Given the description of an element on the screen output the (x, y) to click on. 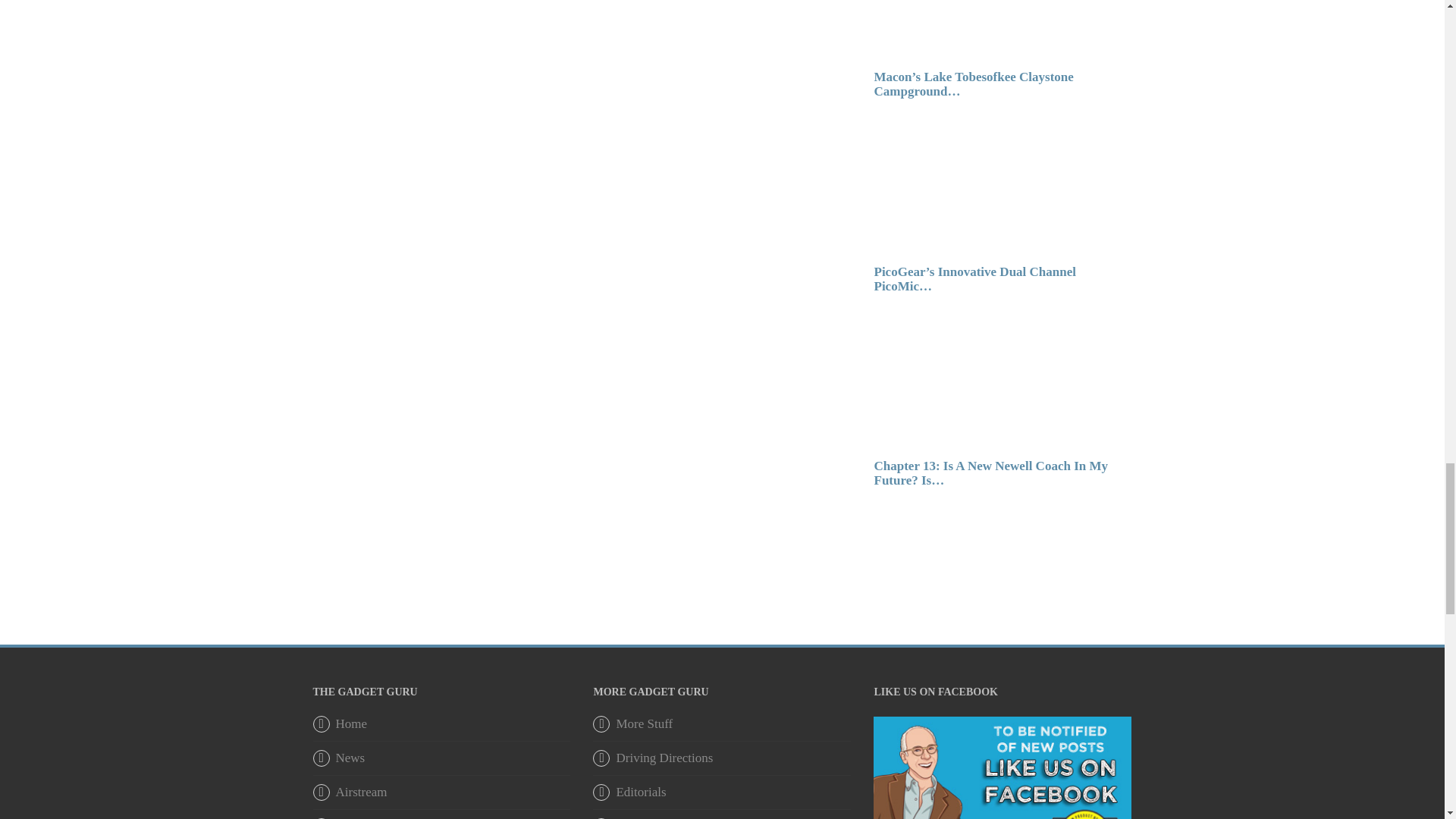
Like Us on Facebook (1002, 812)
